Given the description of an element on the screen output the (x, y) to click on. 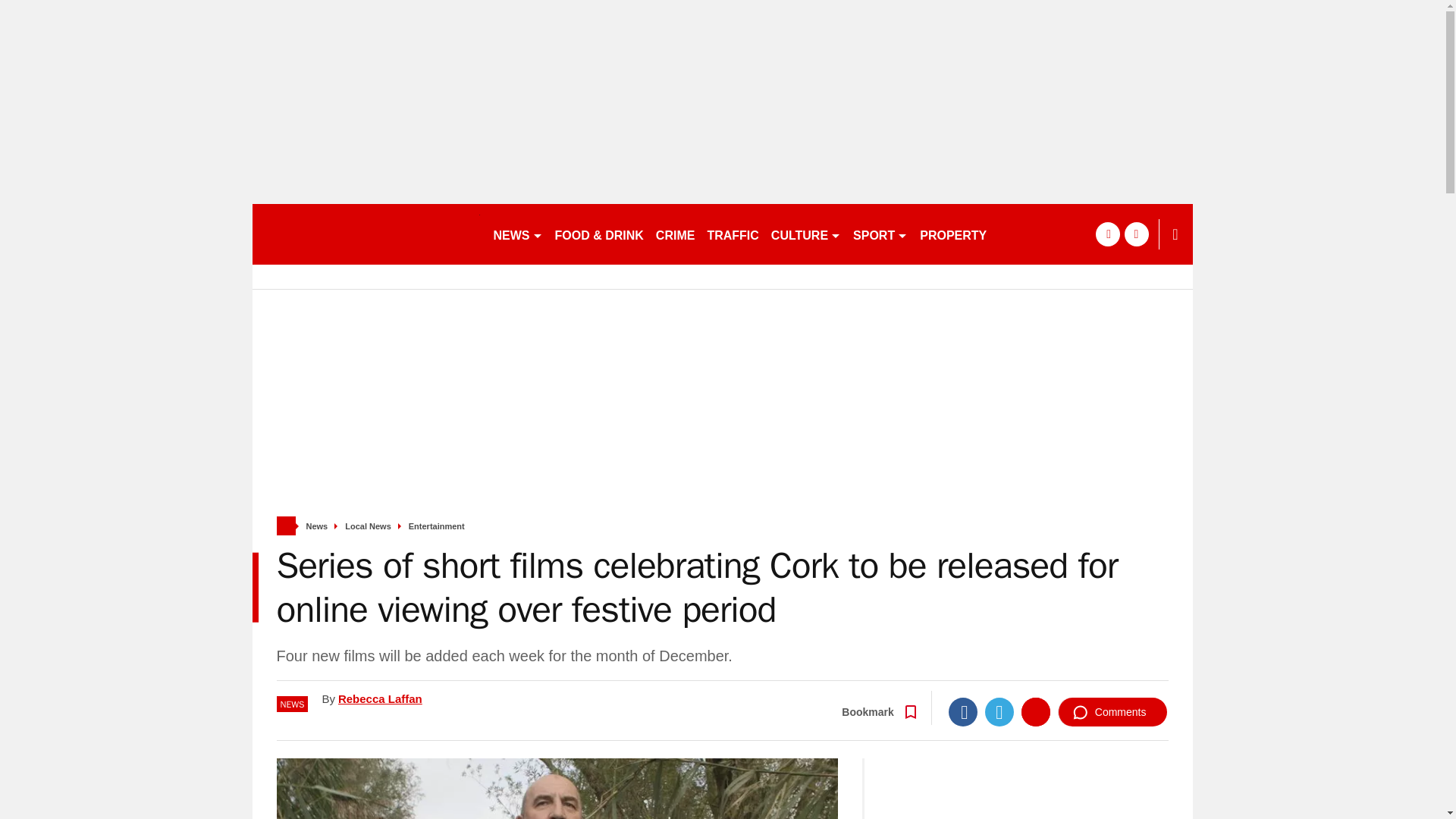
Facebook (962, 711)
facebook (1106, 233)
corklive (365, 233)
CULTURE (806, 233)
SPORT (880, 233)
PROPERTY (953, 233)
TRAFFIC (732, 233)
Comments (1112, 711)
BUSINESS (1029, 233)
NEWS (517, 233)
